Given the description of an element on the screen output the (x, y) to click on. 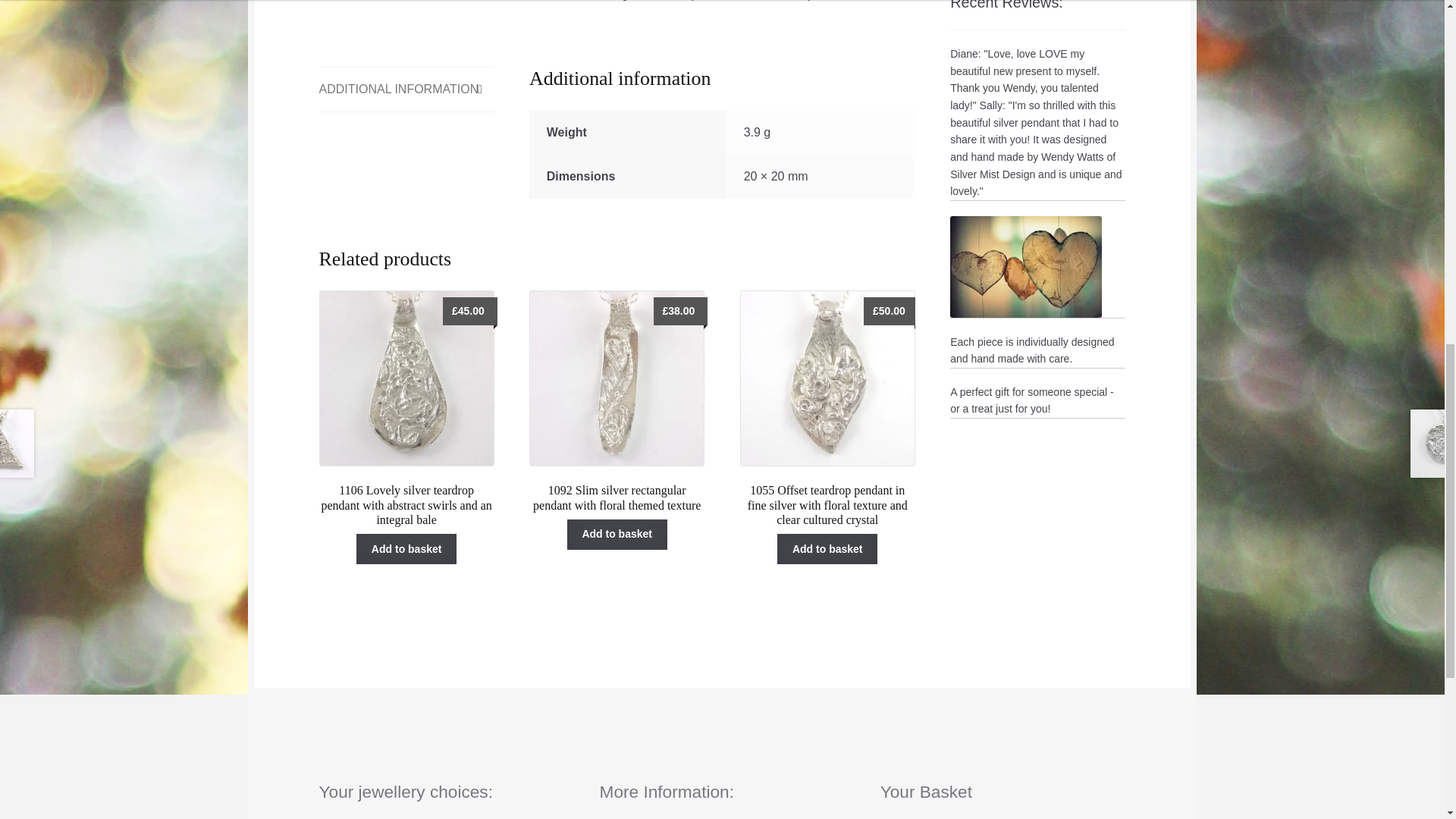
ADDITIONAL INFORMATION (406, 89)
Jewellery (788, 0)
Pendants (842, 0)
